Given the description of an element on the screen output the (x, y) to click on. 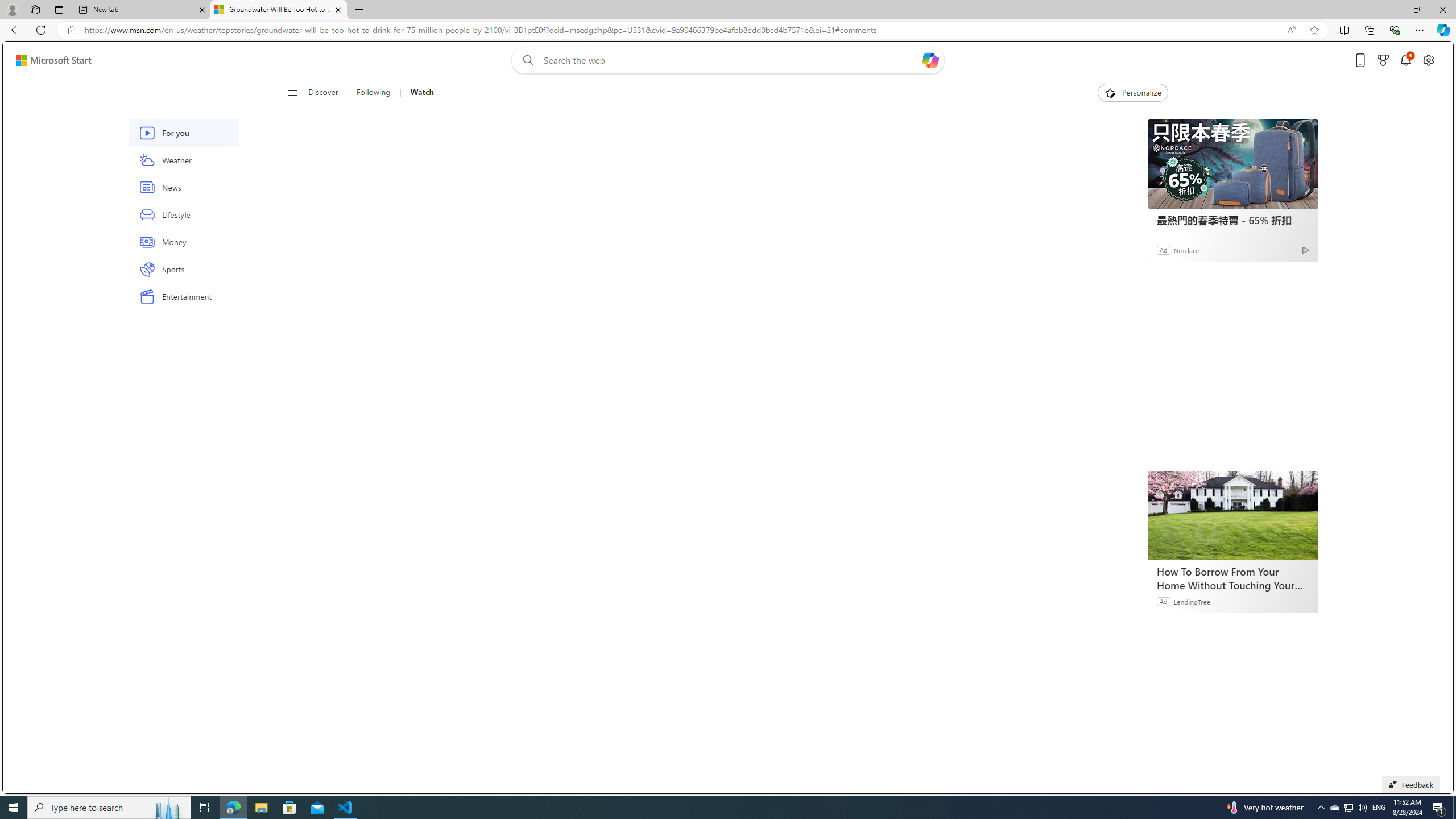
Enter your search term (730, 59)
Skip to footer (46, 59)
Personalize (1132, 92)
